Given the description of an element on the screen output the (x, y) to click on. 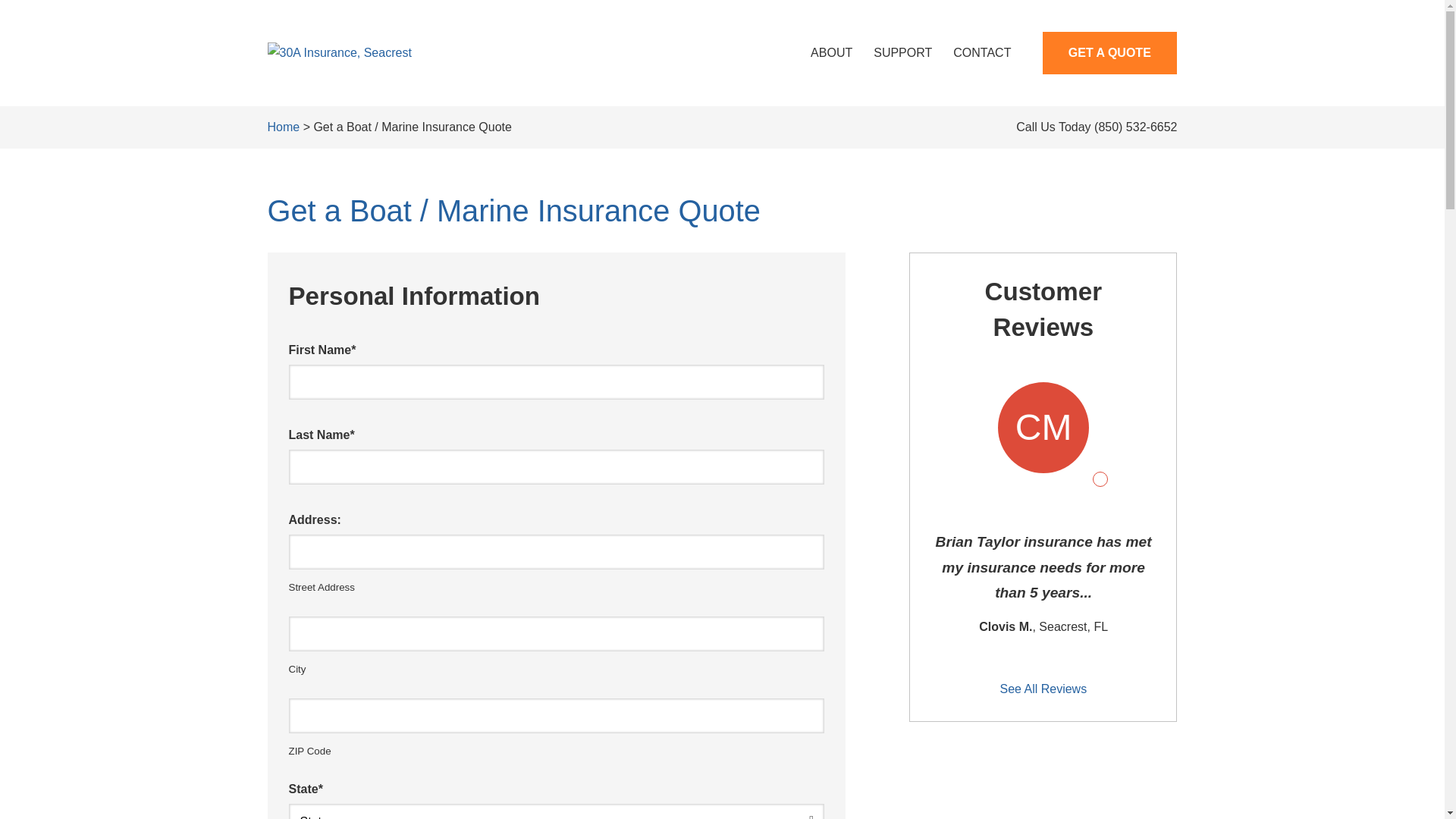
CONTACT Element type: text (981, 52)
See All Reviews Element type: text (1042, 533)
(850) 532-6652 Element type: text (1135, 126)
ABOUT Element type: text (831, 52)
Home Page (opens popup window) Element type: text (338, 52)
SUPPORT Element type: text (902, 52)
30A Insurance, Seacrest Element type: hover (338, 52)
Home Element type: text (282, 126)
GET A QUOTE
(OPENS IN NEW TAB) Element type: text (1109, 52)
See All Reviews Element type: text (1042, 688)
